Given the description of an element on the screen output the (x, y) to click on. 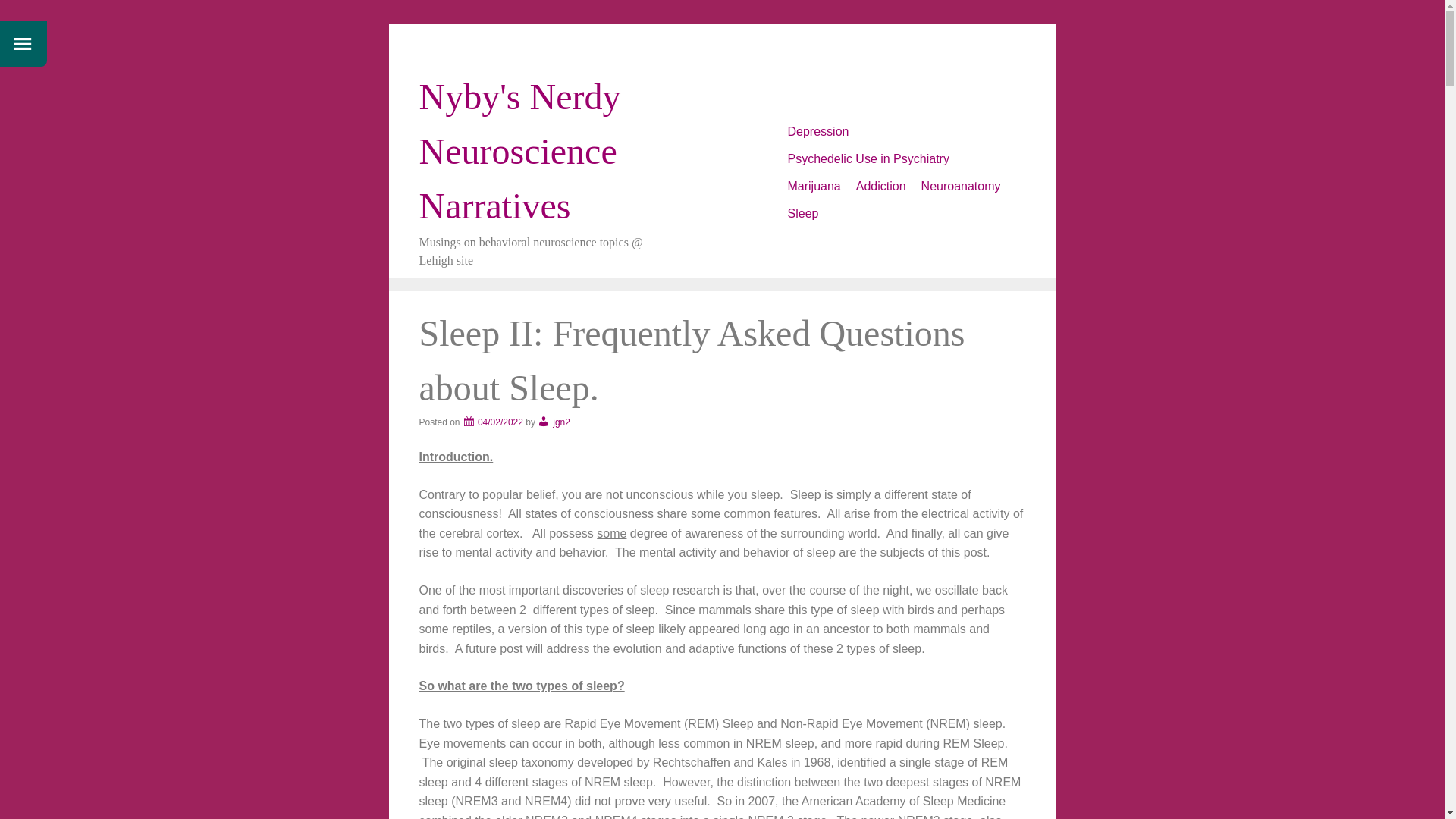
Depression (818, 131)
Nyby's Nerdy Neuroscience Narratives (519, 151)
Marijuana (813, 185)
Addiction (881, 185)
Neuroanatomy (961, 185)
jgn2 (553, 421)
Psychedelic Use in Psychiatry (868, 158)
Skip to content (787, 122)
Sleep (802, 213)
